Given the description of an element on the screen output the (x, y) to click on. 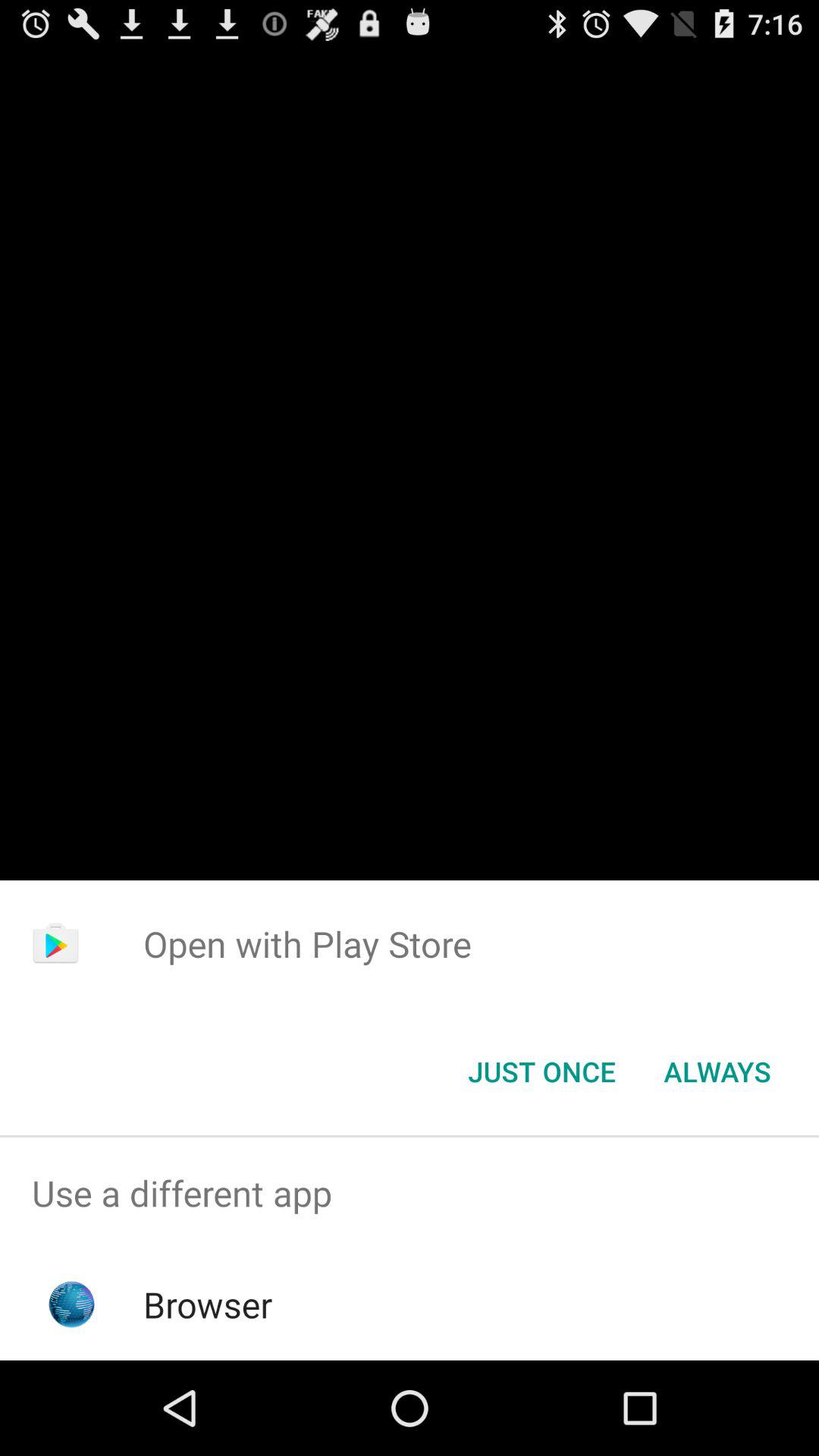
press the icon at the bottom right corner (717, 1071)
